Given the description of an element on the screen output the (x, y) to click on. 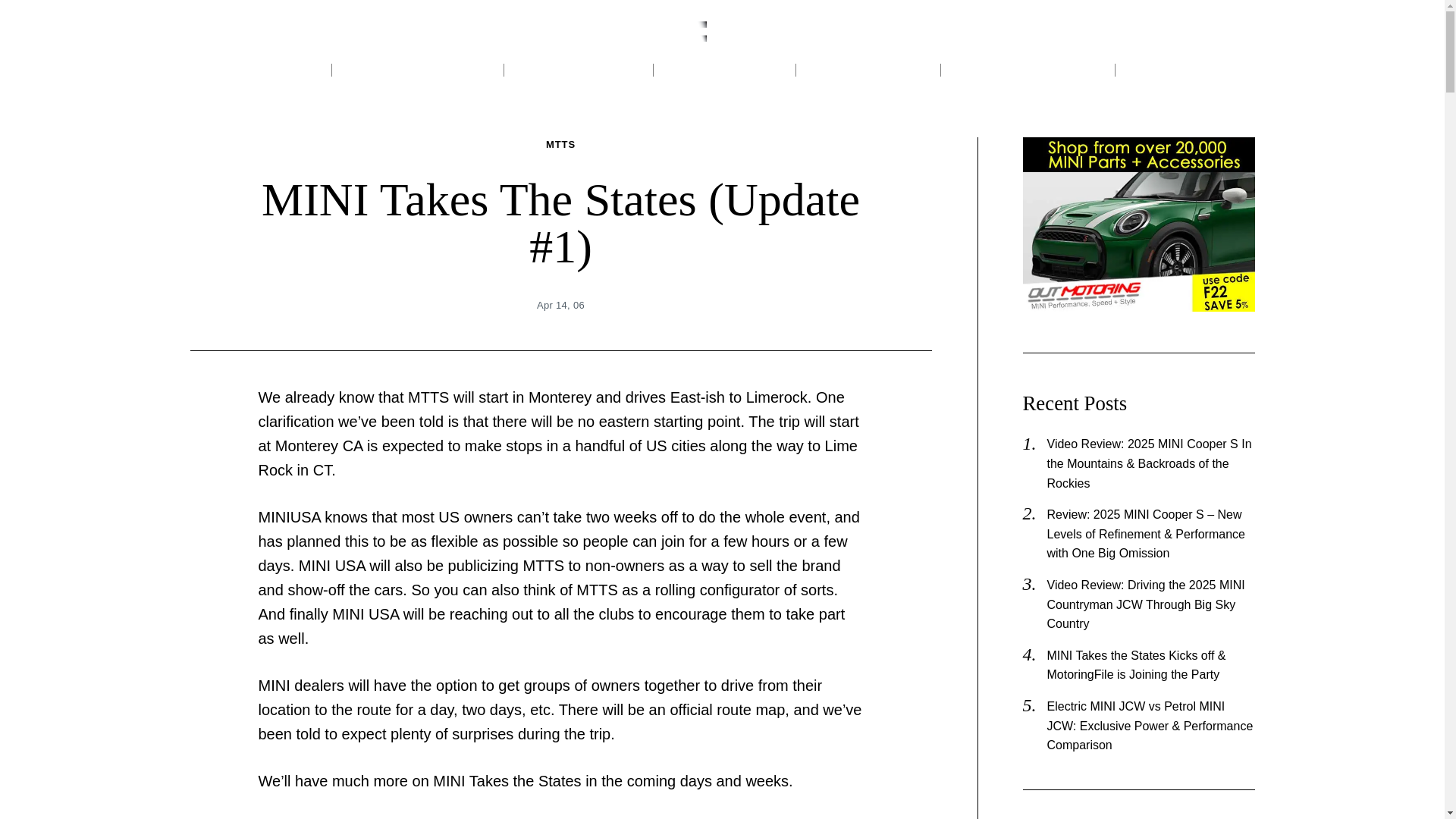
MINI ACEMAN (723, 70)
CATEGORIES (1185, 70)
MINI REVIEWS (869, 70)
MINI COUNTRYMAN (417, 70)
MINI Cooper (260, 70)
MINI Countryman (417, 70)
MINI CLUBMAN (578, 70)
MINI GENERATIONS (1027, 70)
MINI Clubman (578, 70)
